Given the description of an element on the screen output the (x, y) to click on. 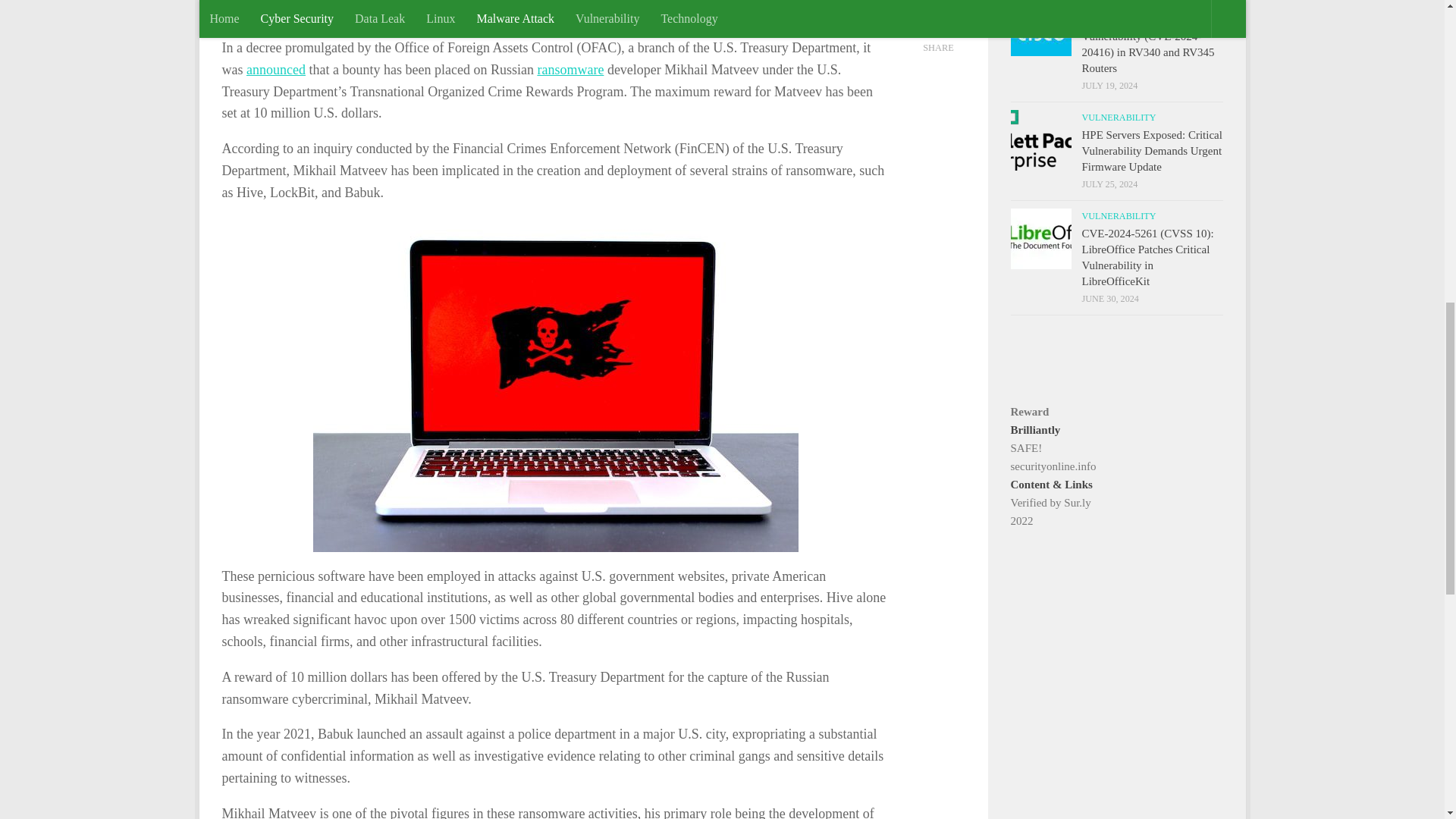
announced (275, 69)
ransomware (570, 69)
